Given the description of an element on the screen output the (x, y) to click on. 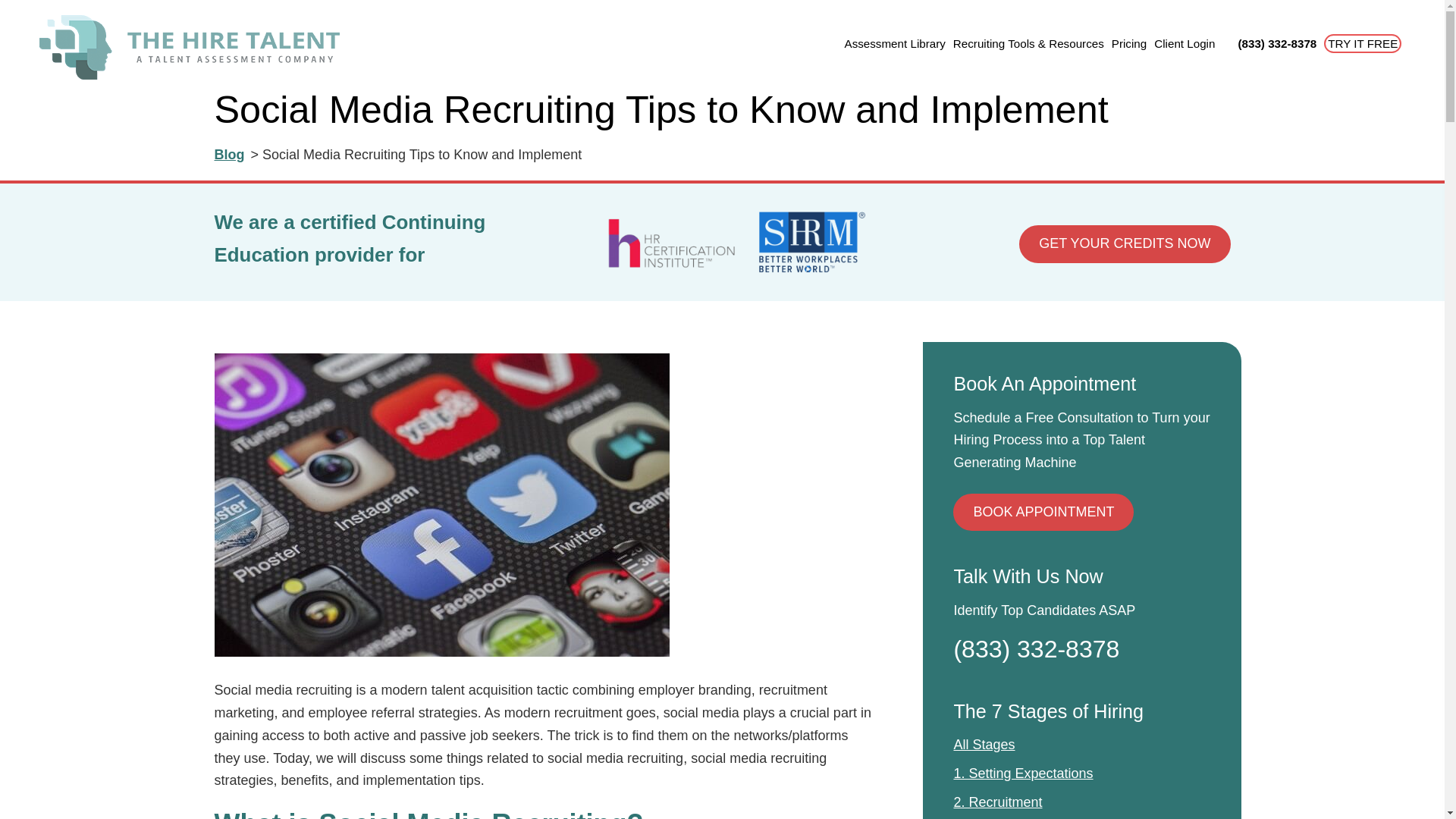
SHRM Logo (811, 242)
TRY IT FREE (1362, 43)
Blog (229, 154)
HRCI Logo (671, 241)
GET YOUR CREDITS NOW (1124, 243)
Client Login (1184, 43)
Pricing (1129, 43)
Assessment Library (894, 43)
The Hire Talent (189, 47)
